Given the description of an element on the screen output the (x, y) to click on. 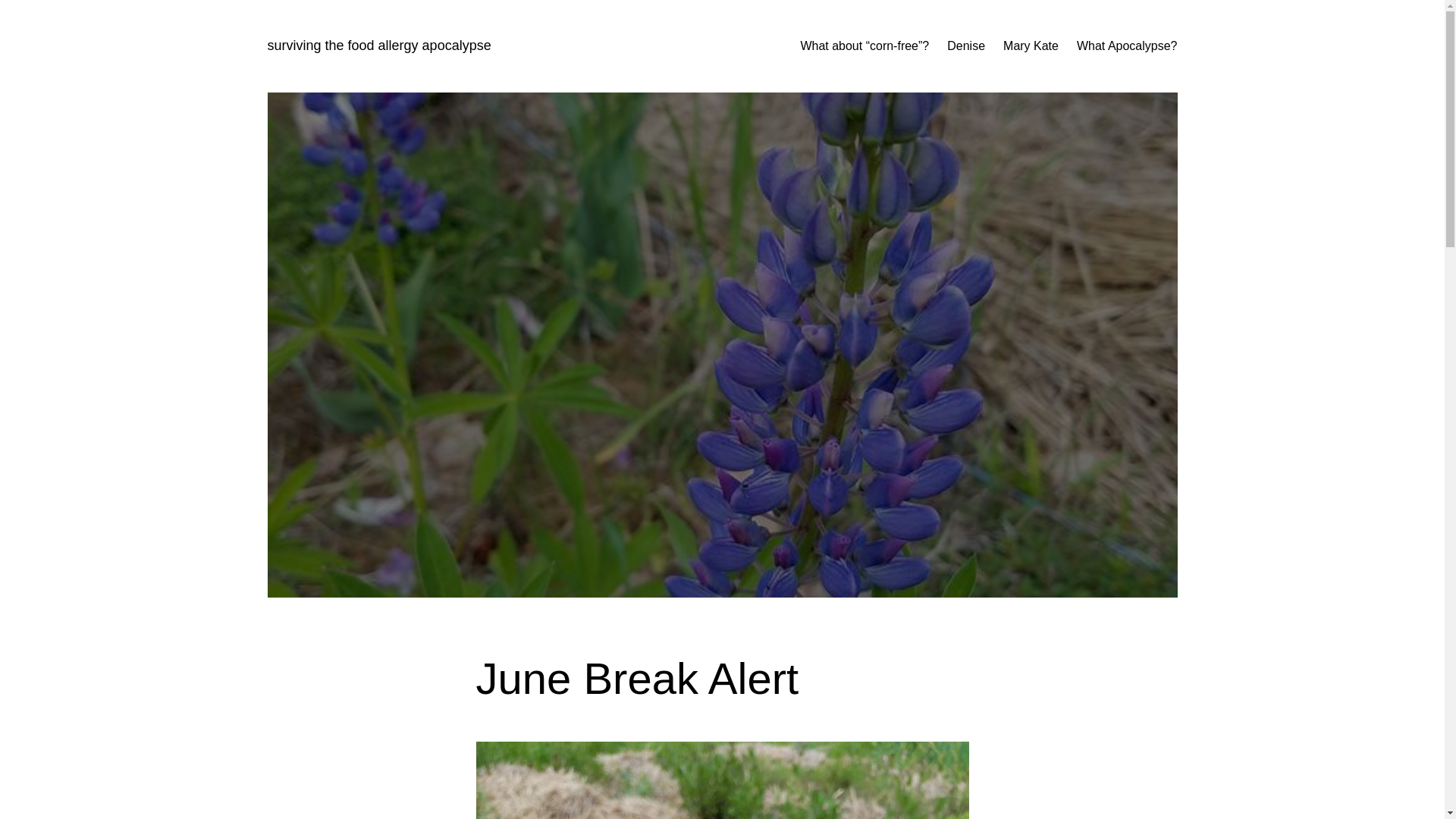
Denise (966, 46)
surviving the food allergy apocalypse (378, 45)
What Apocalypse? (1127, 46)
Mary Kate (1030, 46)
